Given the description of an element on the screen output the (x, y) to click on. 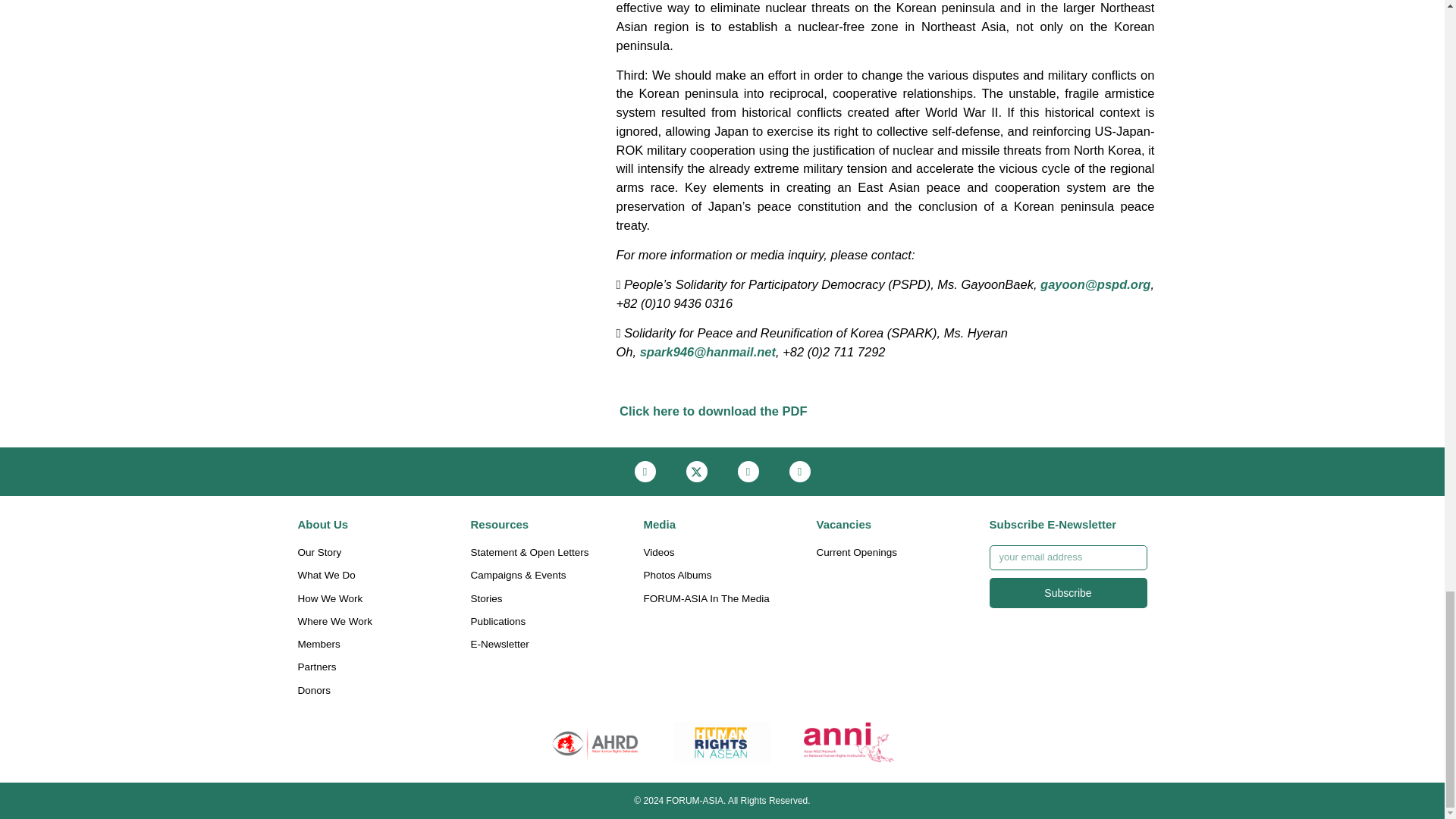
Default Title (595, 741)
Default Title (722, 741)
Default Title (848, 741)
